Given the description of an element on the screen output the (x, y) to click on. 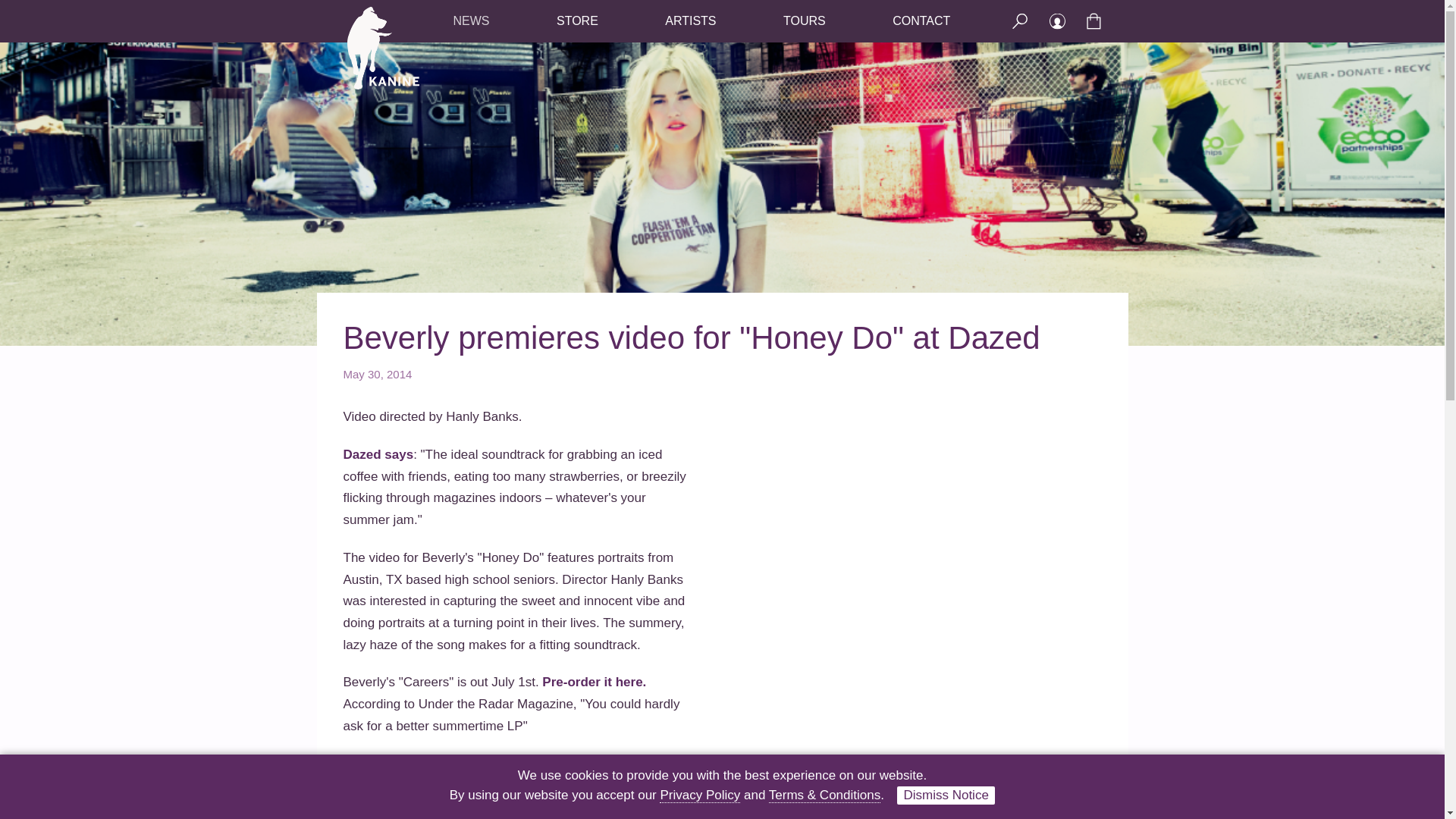
Dazed says (377, 454)
ARTISTS (690, 20)
STORE (577, 20)
TOURS (804, 20)
Beverly "Honey Do" (925, 486)
Pre-order it here. (593, 681)
NEWS (470, 20)
CONTACT (921, 20)
Privacy Policy (699, 795)
